Given the description of an element on the screen output the (x, y) to click on. 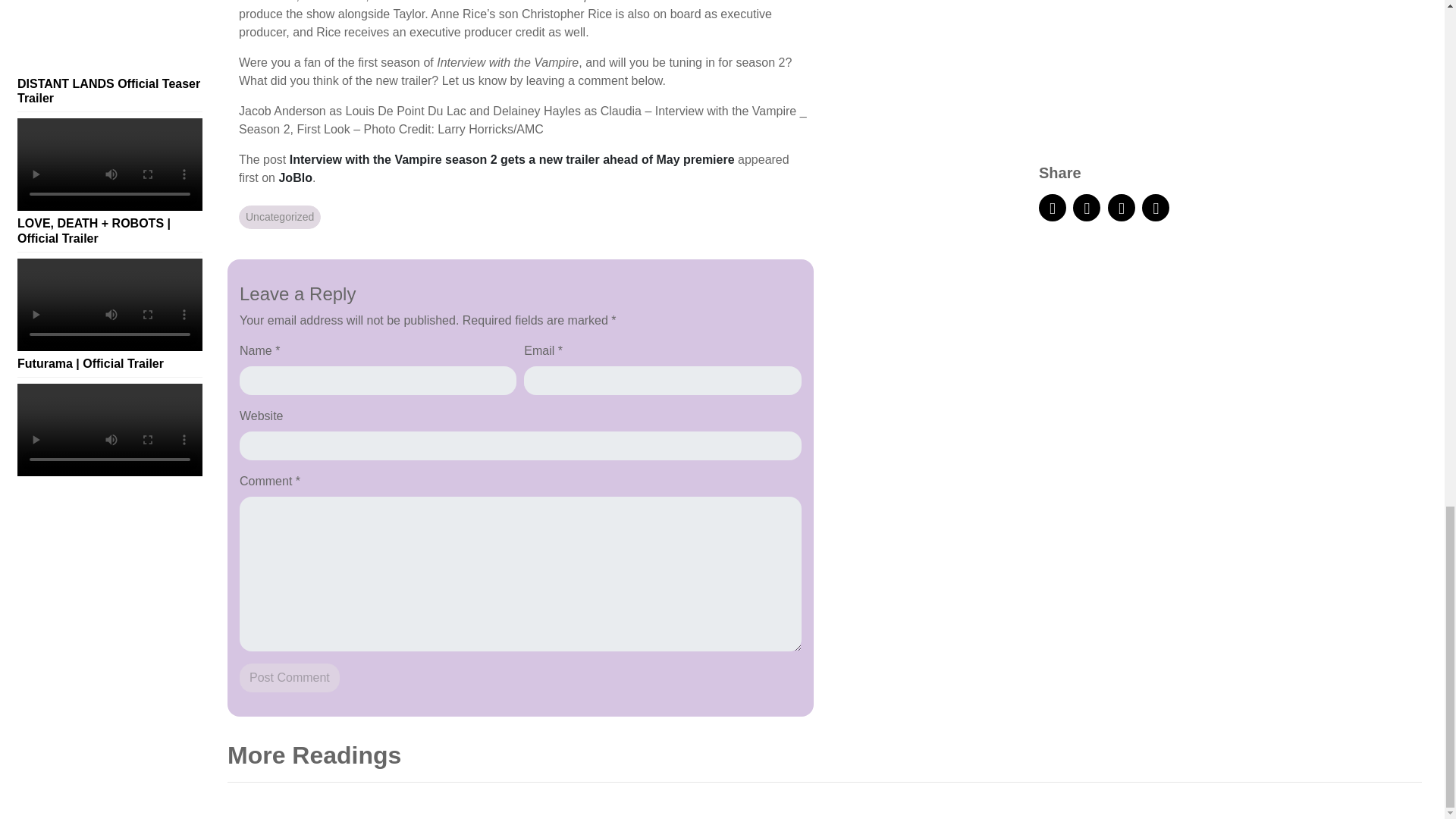
Post Comment (289, 677)
Uncategorized (279, 217)
JoBlo (294, 177)
Post Comment (289, 677)
